Given the description of an element on the screen output the (x, y) to click on. 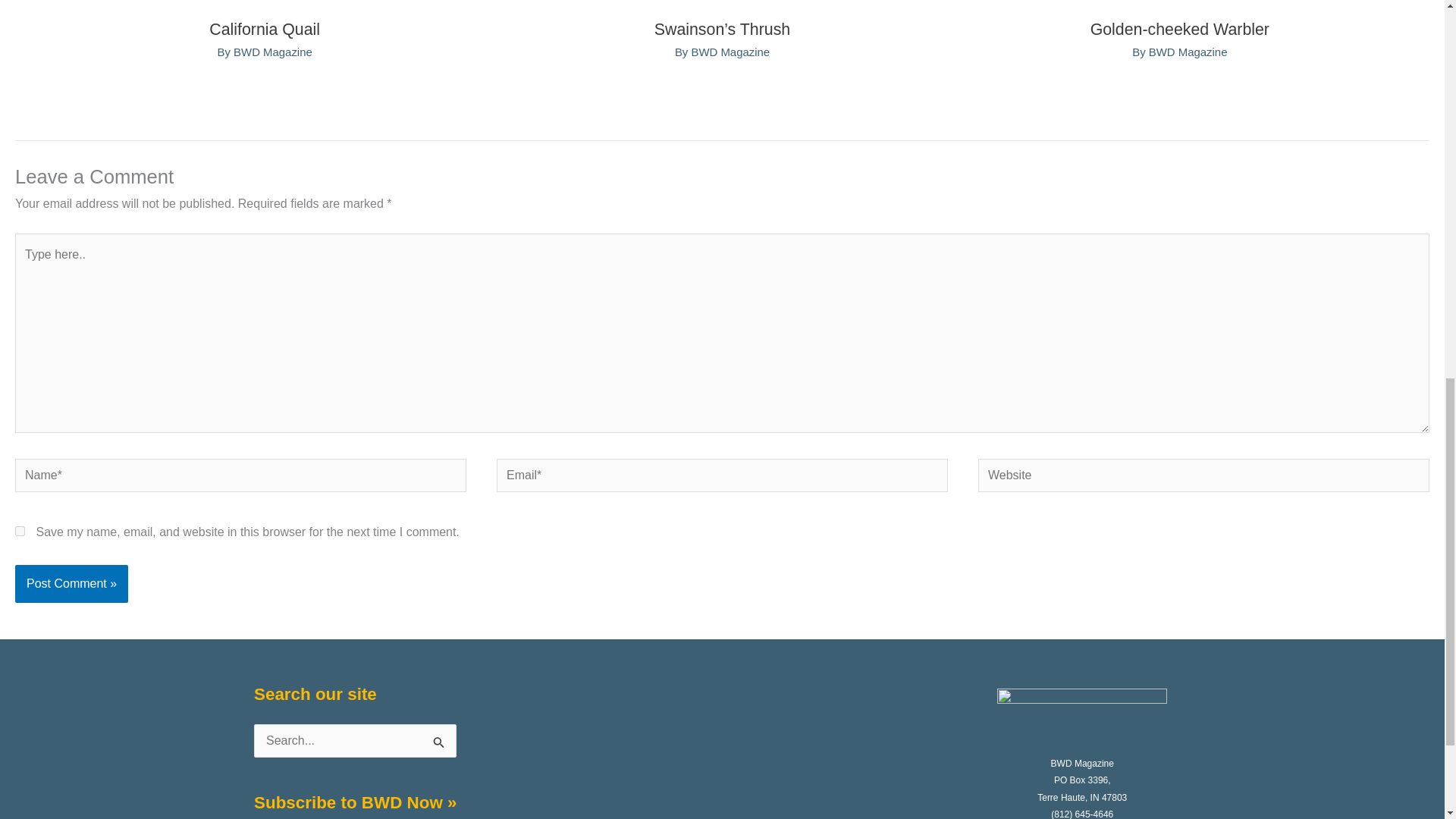
View all posts by BWD Magazine (730, 51)
yes (19, 531)
View all posts by BWD Magazine (1187, 51)
View all posts by BWD Magazine (272, 51)
